Given the description of an element on the screen output the (x, y) to click on. 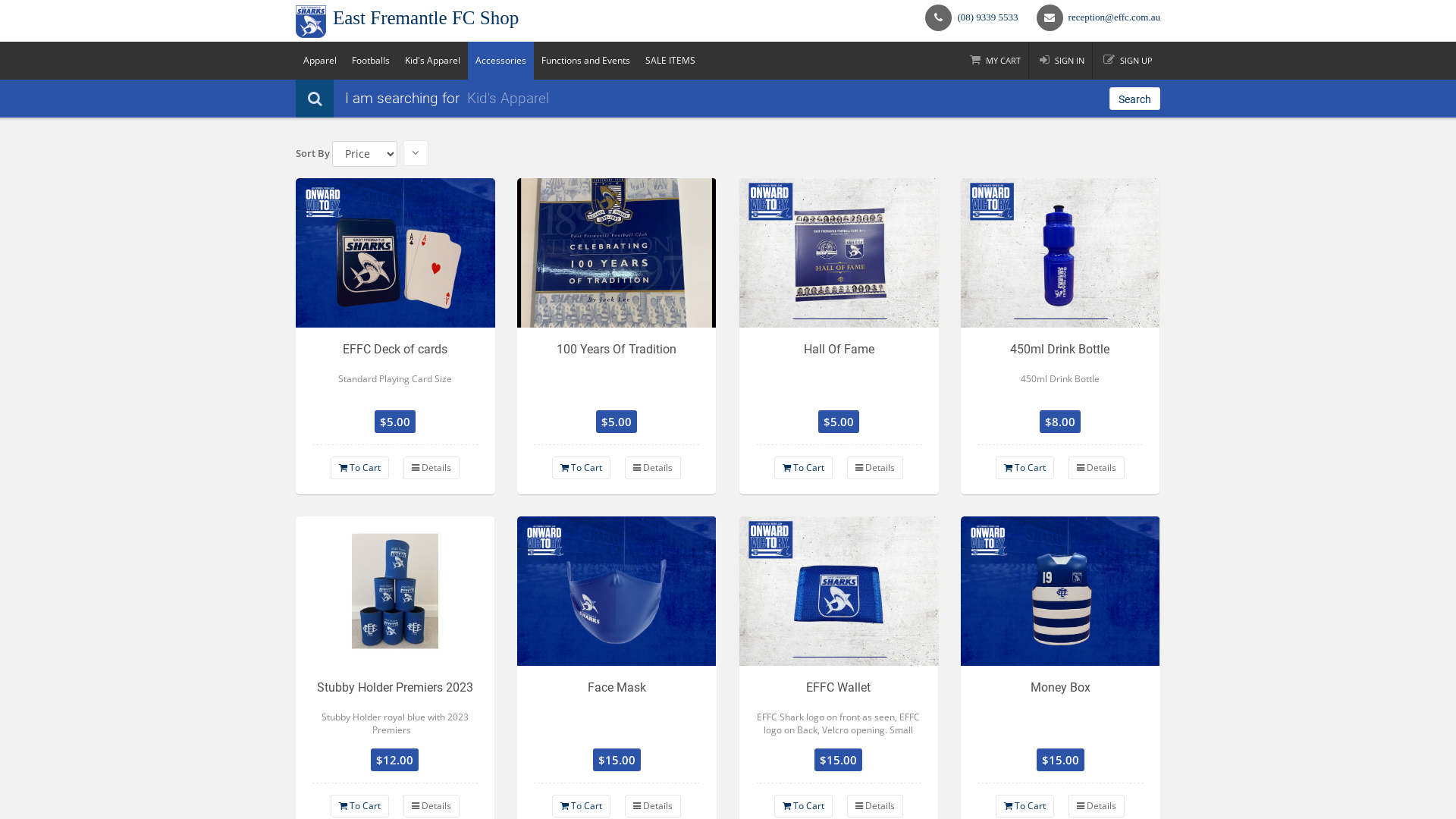
$15.00 Element type: text (839, 759)
Details Element type: text (1096, 805)
To Cart Element type: text (581, 805)
$5.00 Element type: text (839, 421)
$12.00 Element type: text (395, 759)
$15.00 Element type: text (1060, 759)
Hall Of Fame Element type: hover (838, 252)
Details Element type: text (652, 467)
$5.00 Element type: text (616, 421)
To Cart Element type: text (581, 467)
Stubby Holder Premiers 2023 Element type: hover (395, 590)
Details Element type: text (875, 467)
Details Element type: text (431, 467)
SIGN UP Element type: text (1127, 60)
Details Element type: text (431, 805)
EFFC Deck of cards
Standard Playing Card Size Element type: text (395, 370)
450ml Drink Bottle
450ml Drink Bottle Element type: text (1060, 370)
Accessories Element type: text (500, 60)
Apparel Element type: text (319, 60)
$15.00 Element type: text (616, 759)
SIGN IN Element type: text (1062, 60)
Kid's Apparel Element type: text (432, 60)
100 Years Of Tradition Element type: hover (616, 252)
Search Element type: text (1134, 98)
Face Mask Element type: hover (616, 590)
SALE ITEMS Element type: text (669, 60)
EFFC Wallet Element type: hover (838, 590)
To Cart Element type: text (1024, 805)
$5.00 Element type: text (395, 421)
To Cart Element type: text (803, 805)
To Cart Element type: text (359, 467)
$8.00 Element type: text (1060, 421)
EFFC Deck of cards Element type: hover (395, 252)
(08) 9339 5533 Element type: text (987, 16)
Details Element type: text (1096, 467)
To Cart Element type: text (803, 467)
Details Element type: text (652, 805)
East Fremantle FC Shop Logo Element type: hover (310, 21)
Money Box Element type: text (1060, 708)
Face Mask Element type: text (616, 708)
450ml Drink Bottle Element type: hover (1060, 252)
Money Box Element type: hover (1060, 590)
Functions and Events Element type: text (585, 60)
To Cart Element type: text (1024, 467)
Details Element type: text (875, 805)
100 Years Of Tradition Element type: text (616, 370)
reception@effc.com.au Element type: text (1114, 16)
East Fremantle FC Shop Element type: text (505, 20)
MY CART Element type: text (995, 60)
To Cart Element type: text (359, 805)
Footballs Element type: text (370, 60)
Hall Of Fame Element type: text (839, 370)
